Given the description of an element on the screen output the (x, y) to click on. 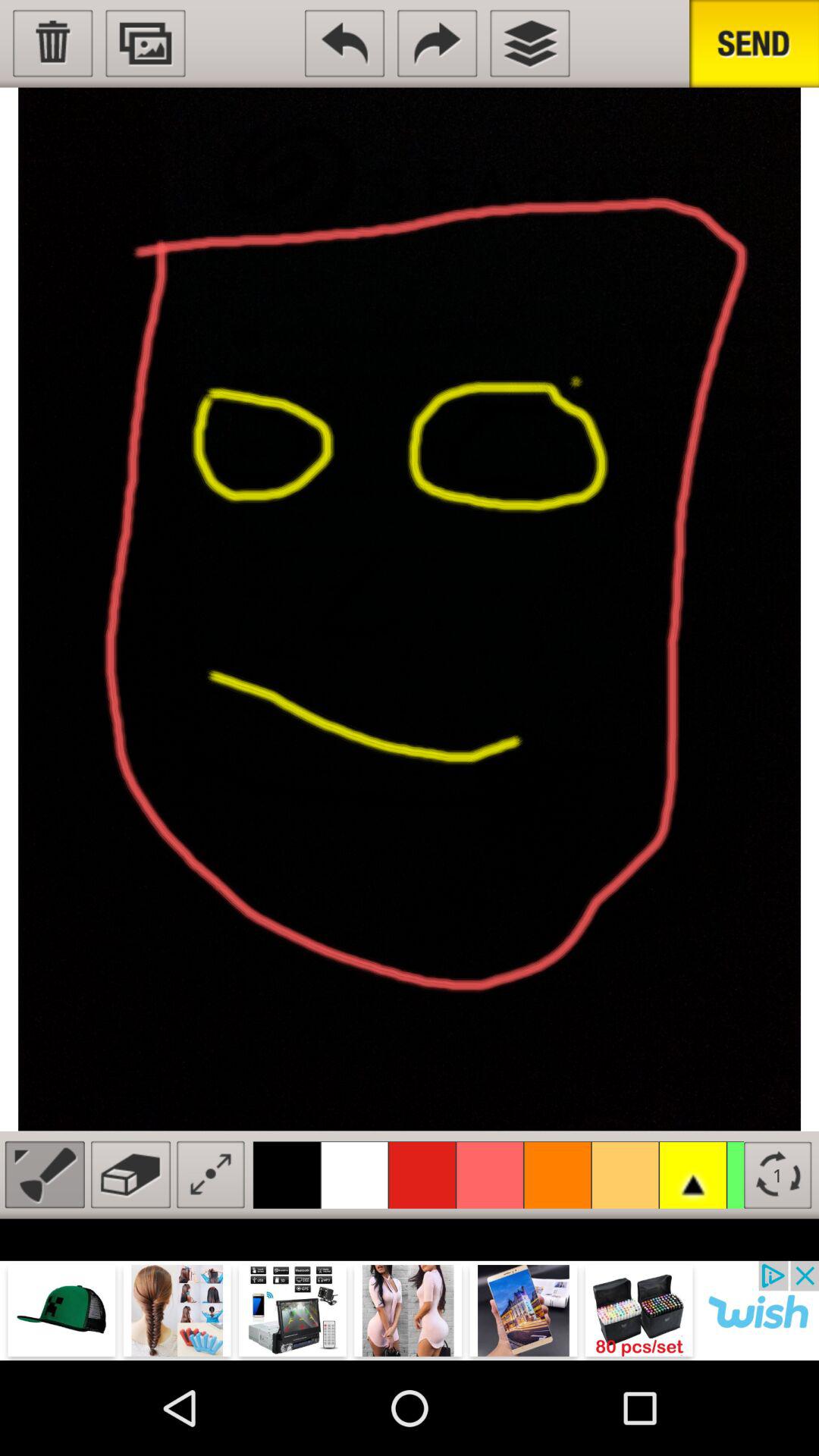
eraser (130, 1174)
